Given the description of an element on the screen output the (x, y) to click on. 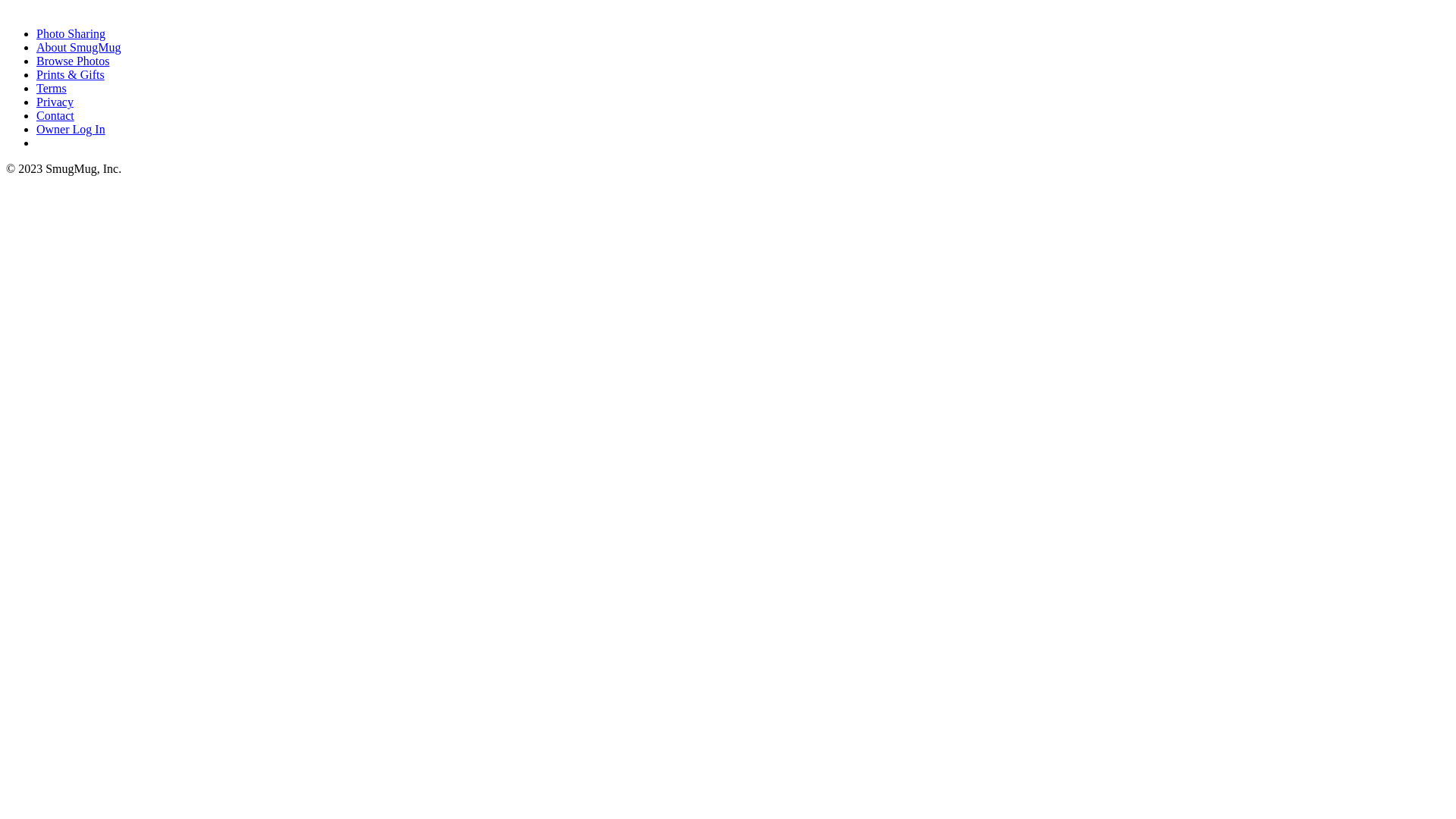
Privacy Element type: text (54, 101)
About SmugMug Element type: text (78, 46)
Photo Sharing Element type: text (70, 33)
Terms Element type: text (51, 87)
Owner Log In Element type: text (70, 128)
Contact Element type: text (55, 115)
Prints & Gifts Element type: text (70, 74)
Browse Photos Element type: text (72, 60)
